Given the description of an element on the screen output the (x, y) to click on. 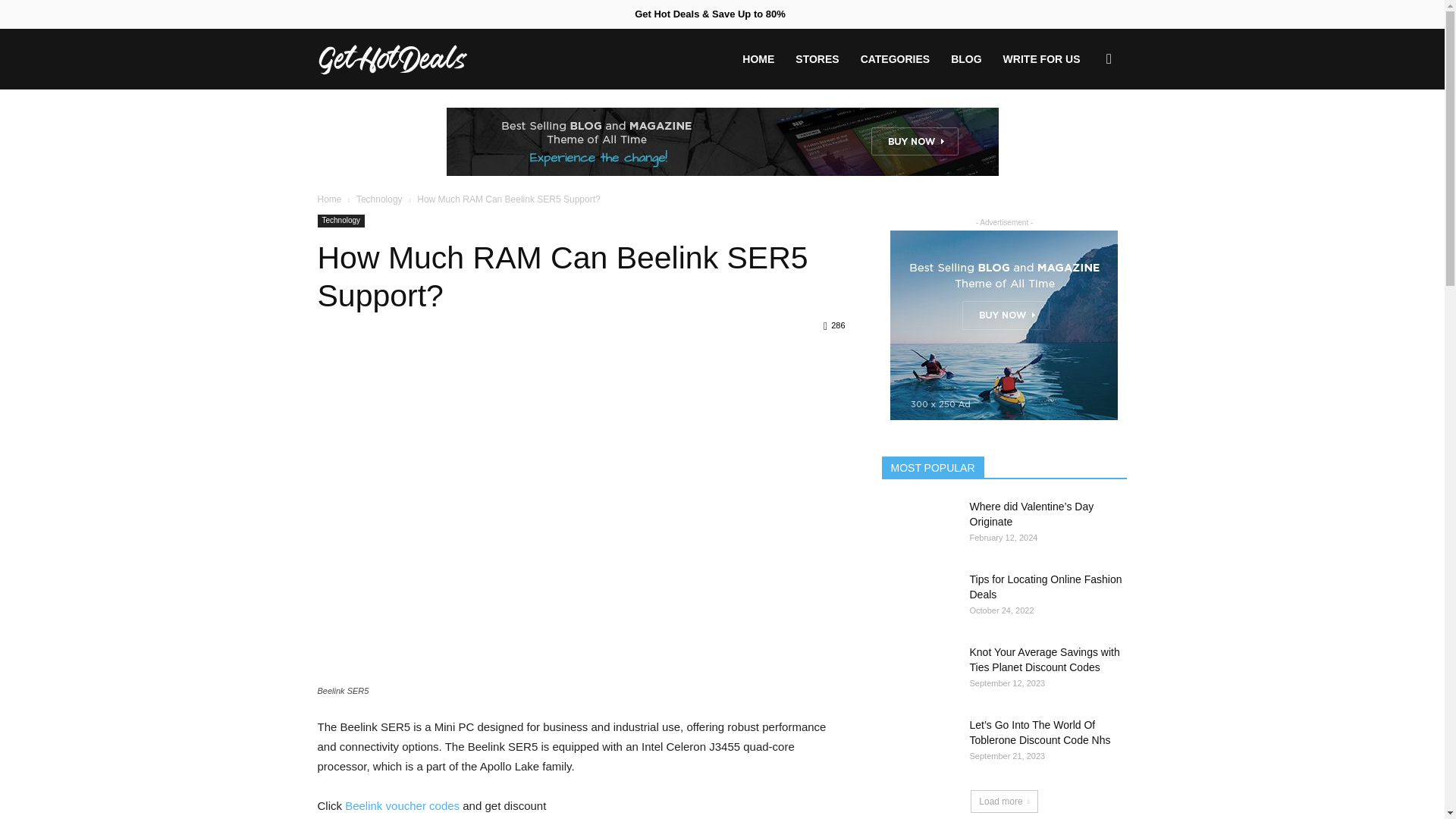
Gethotdeals blog (392, 58)
CATEGORIES (895, 58)
Search (1085, 131)
STORES (816, 58)
View all posts in Technology (379, 199)
